Given the description of an element on the screen output the (x, y) to click on. 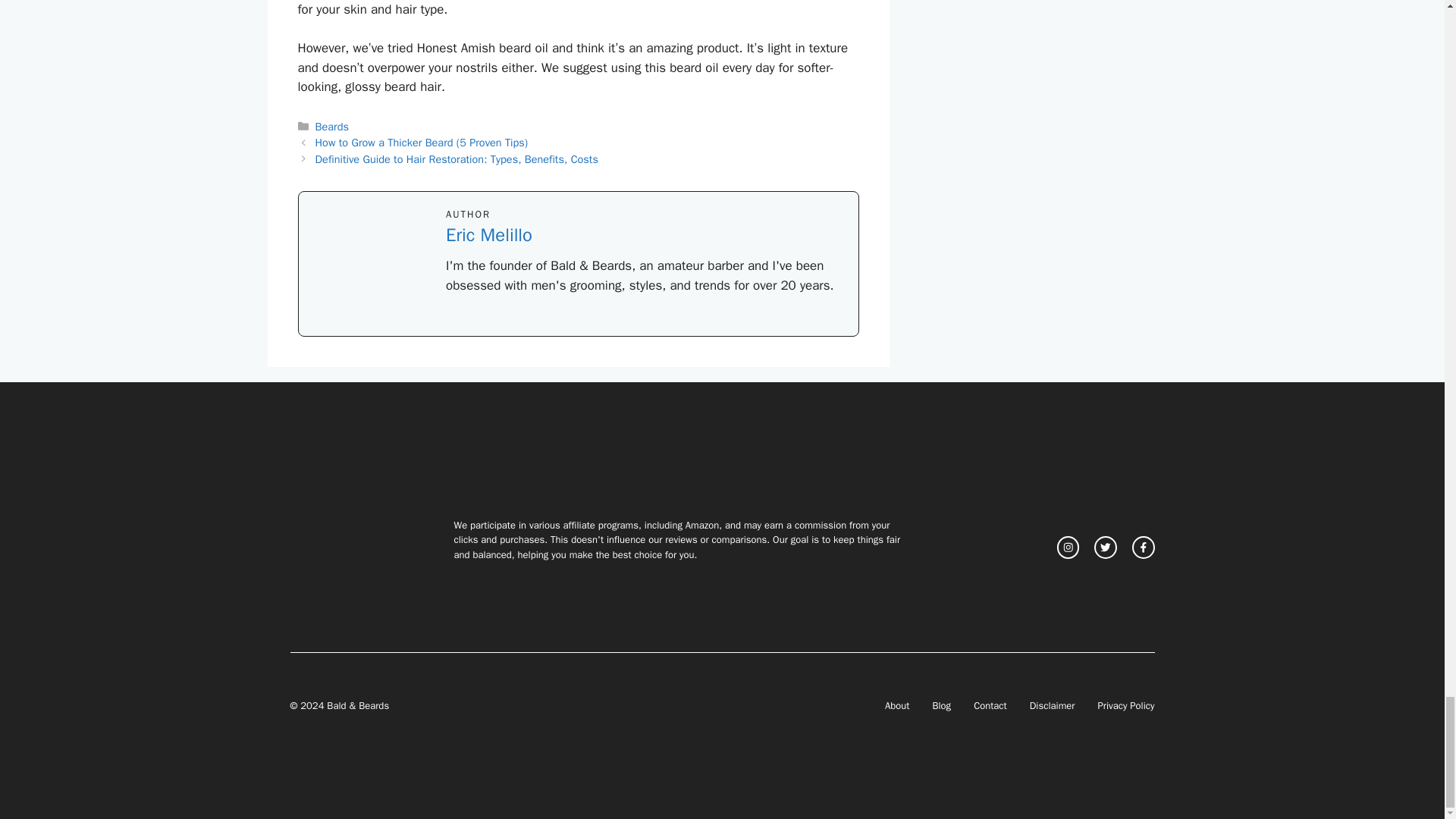
Eric Melillo (488, 234)
Beards (332, 126)
Definitive Guide to Hair Restoration: Types, Benefits, Costs (456, 159)
